Given the description of an element on the screen output the (x, y) to click on. 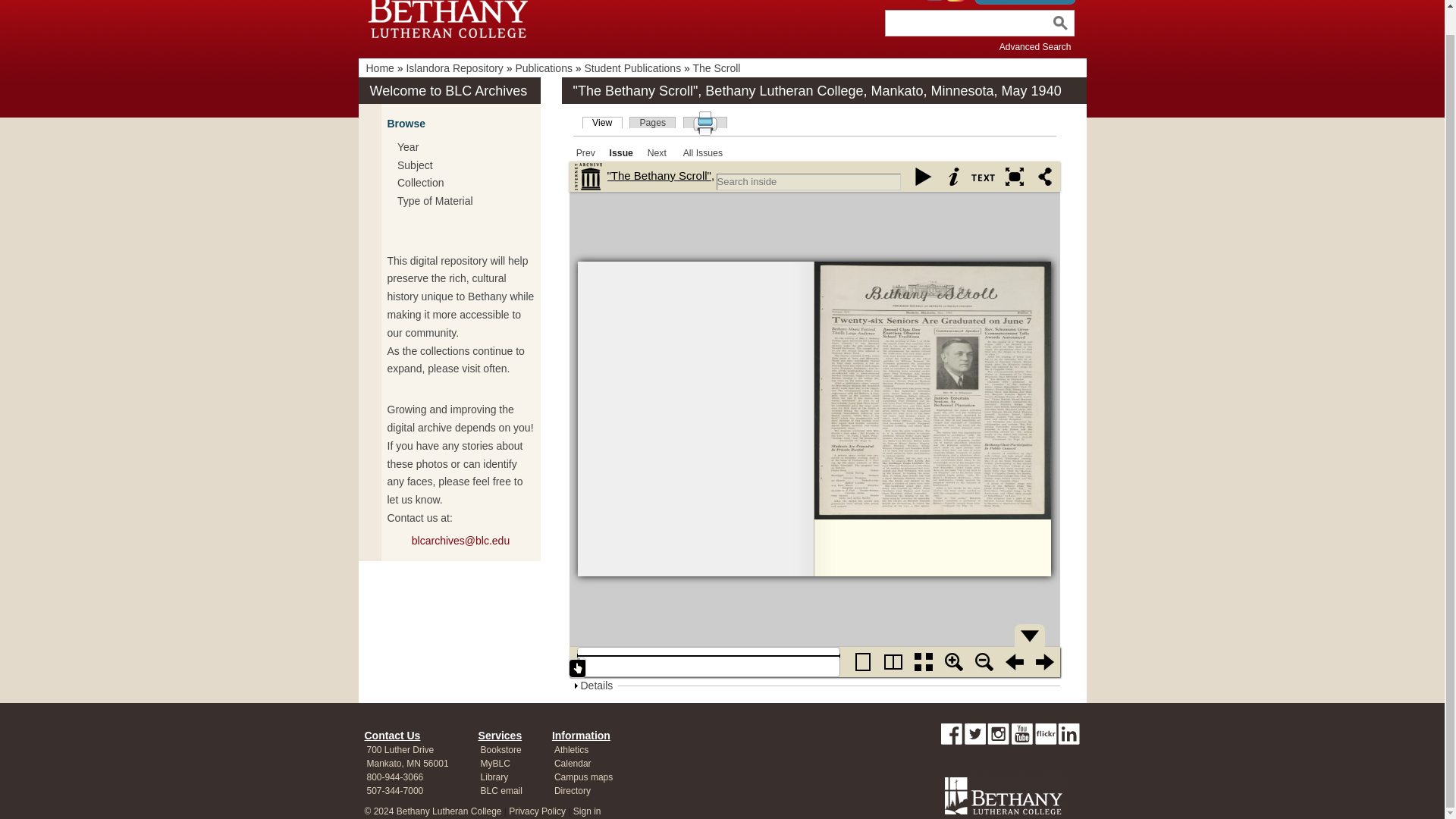
Publications (543, 68)
Year (407, 146)
Advanced Search (1034, 46)
Home (379, 68)
Maps and Directions (399, 750)
Full Text (983, 176)
Maps and Directions (406, 763)
Next Page (1044, 662)
Go to Archive.org (588, 176)
Home (449, 15)
Play (923, 176)
Info (954, 176)
Show fullscreen (1013, 176)
Thumbnail view (923, 662)
